Given the description of an element on the screen output the (x, y) to click on. 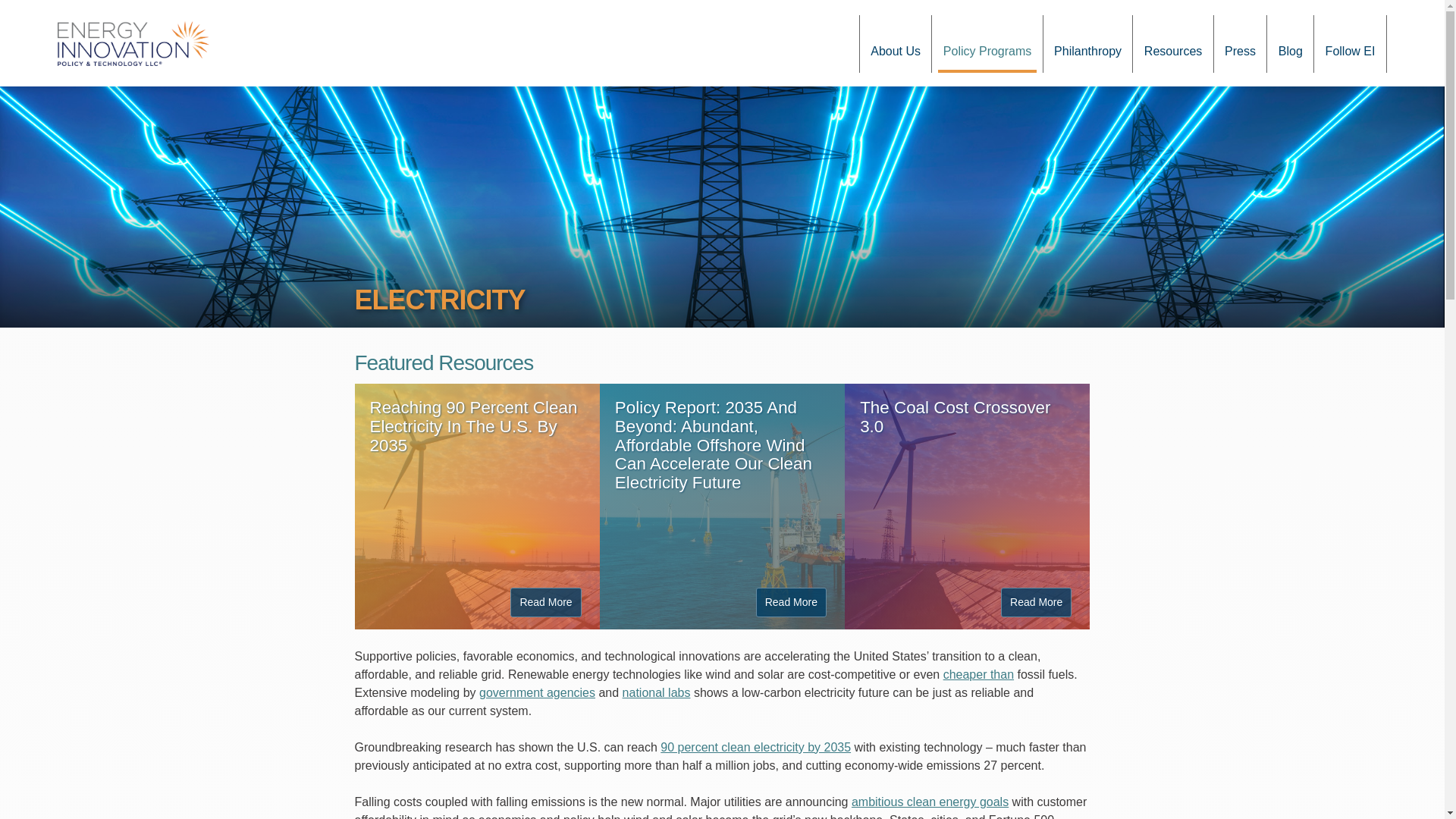
The Coal Cost Crossover 3.0 (954, 416)
Resources (1172, 43)
Read More (791, 602)
Reaching 90 Percent Clean Electricity In The U.S. By 2035 (473, 426)
Follow EI (1350, 43)
Philanthropy (1087, 43)
Energy Innovation: Policy and Technology (133, 42)
Policy Programs (986, 43)
About Us (896, 43)
